Given the description of an element on the screen output the (x, y) to click on. 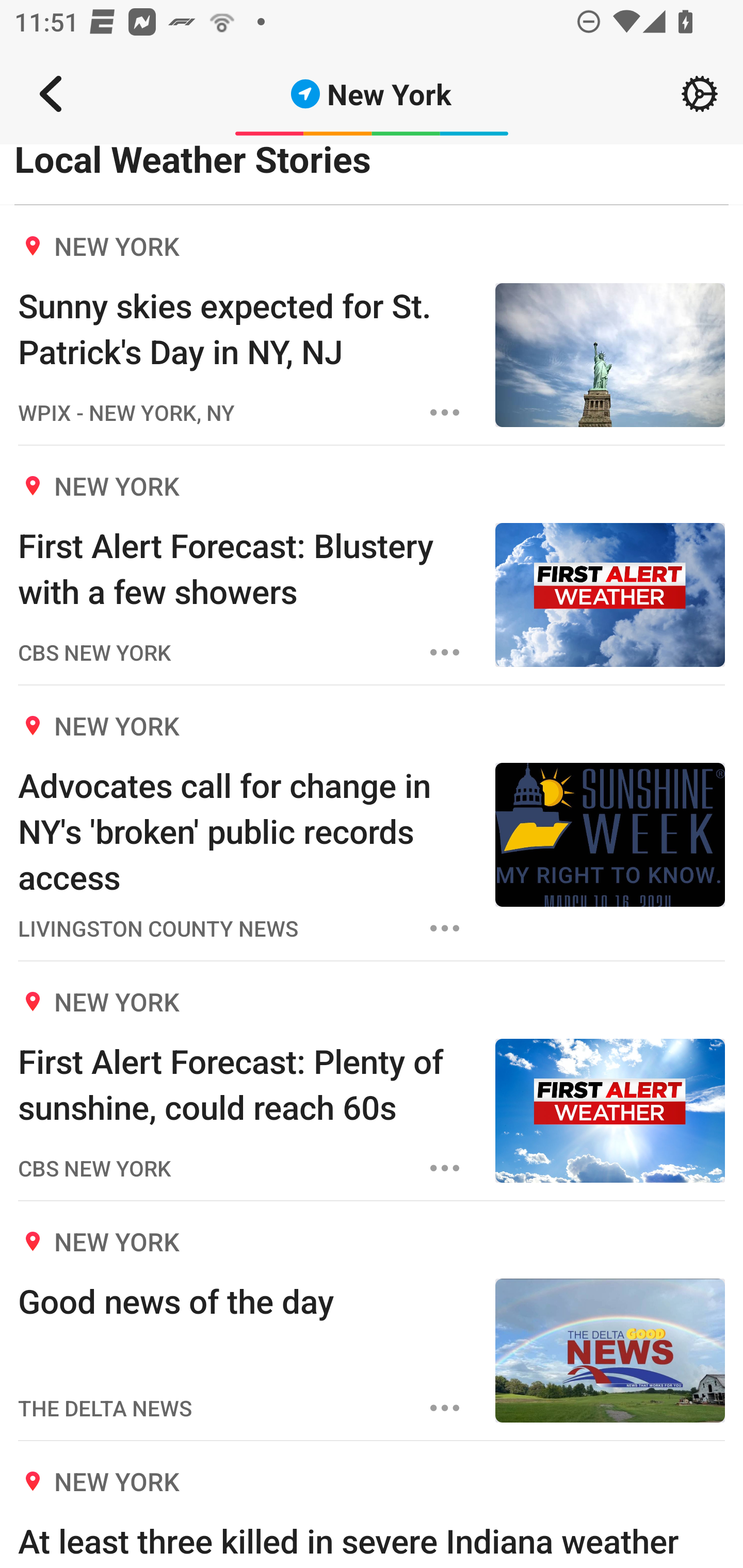
Navigate up (50, 93)
Setting (699, 93)
Options (444, 412)
Options (444, 652)
Options (444, 928)
Options (444, 1168)
Options (444, 1408)
